Given the description of an element on the screen output the (x, y) to click on. 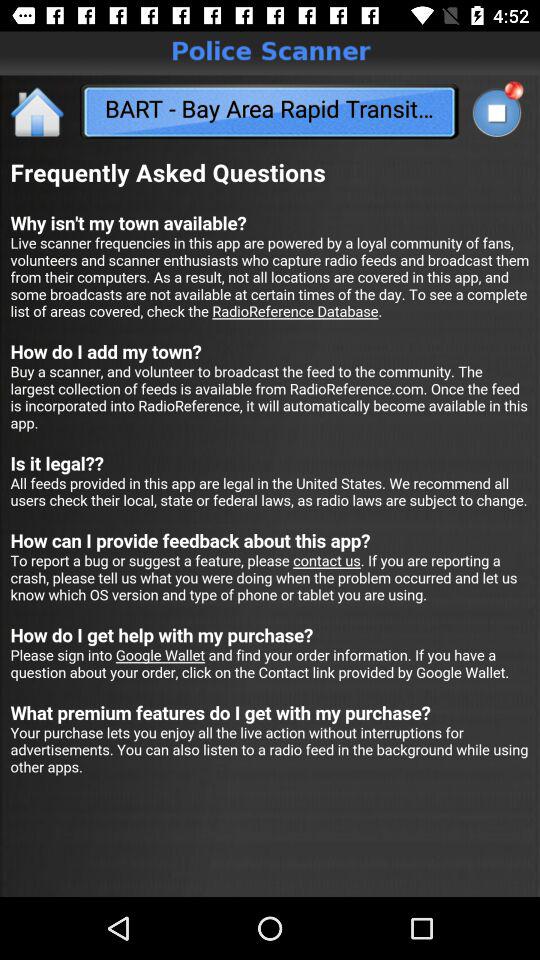
tap to search (496, 111)
